Given the description of an element on the screen output the (x, y) to click on. 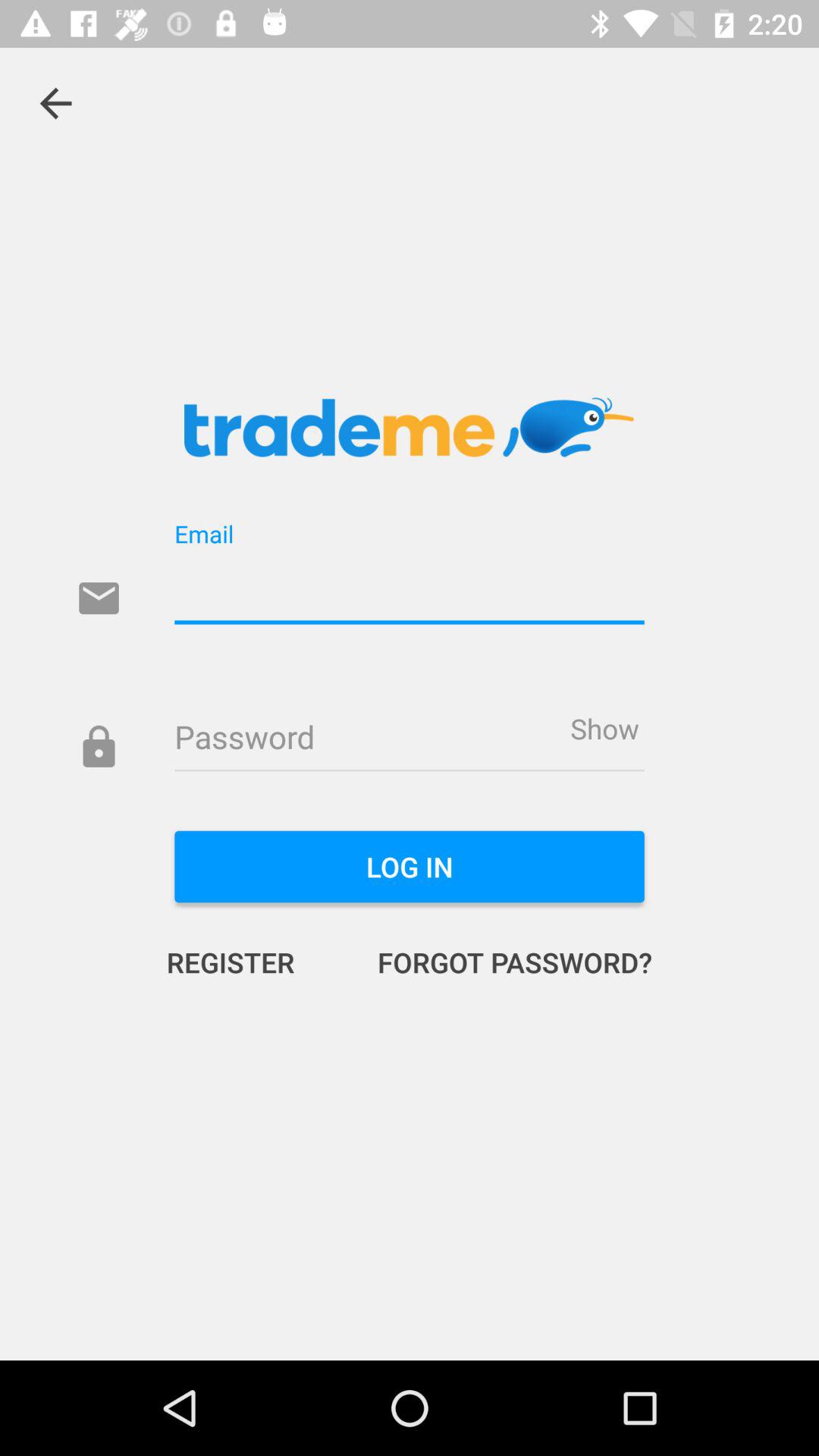
email line (409, 590)
